Given the description of an element on the screen output the (x, y) to click on. 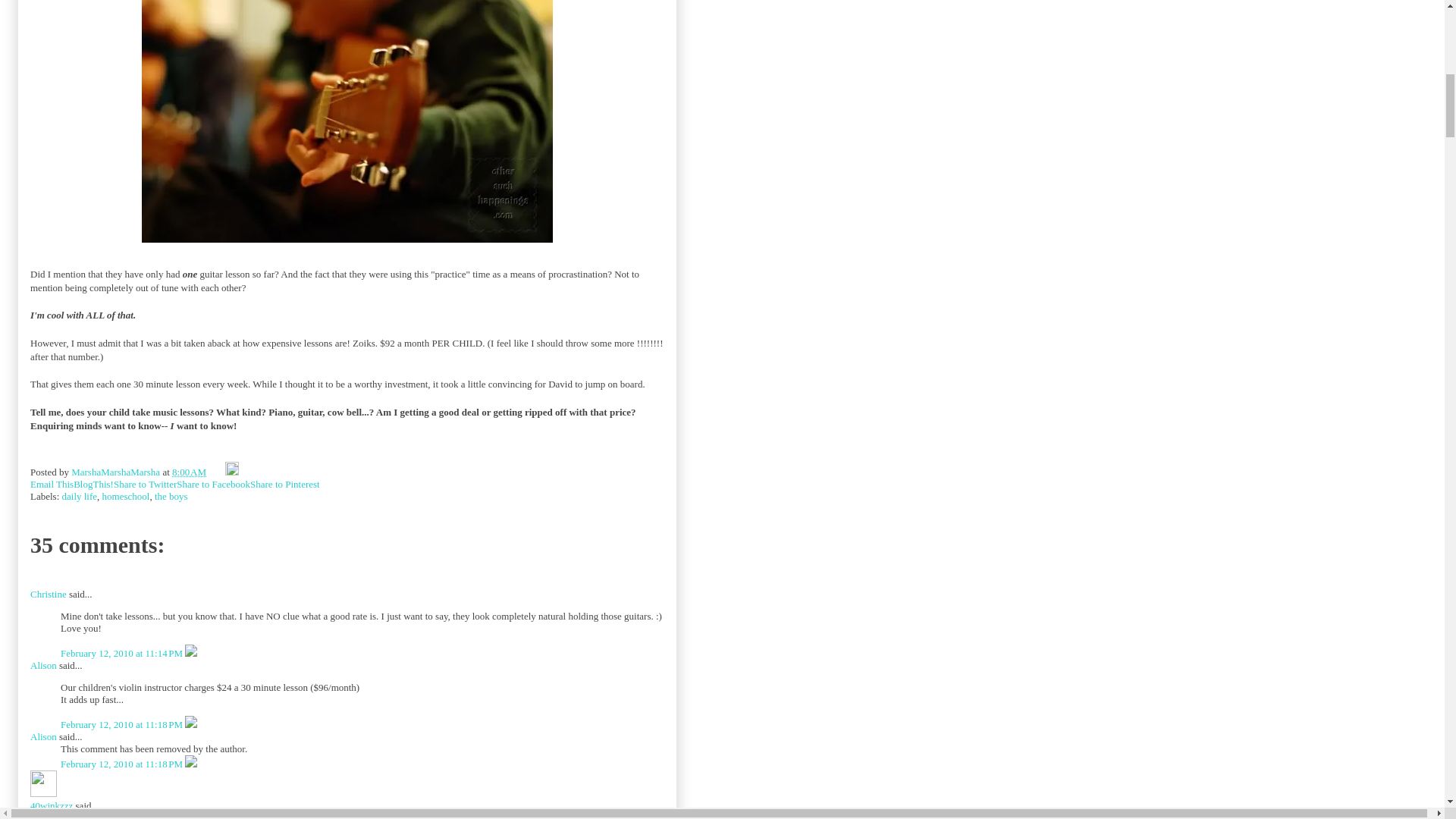
Alison (43, 736)
Alison (43, 665)
Email This (52, 483)
comment permalink (122, 653)
Email This (52, 483)
40winkzzz (51, 805)
Edit Post (231, 471)
Share to Twitter (144, 483)
author profile (116, 471)
MarshaMarshaMarsha (116, 471)
BlogThis! (93, 483)
comment permalink (122, 724)
Email Post (216, 471)
